Given the description of an element on the screen output the (x, y) to click on. 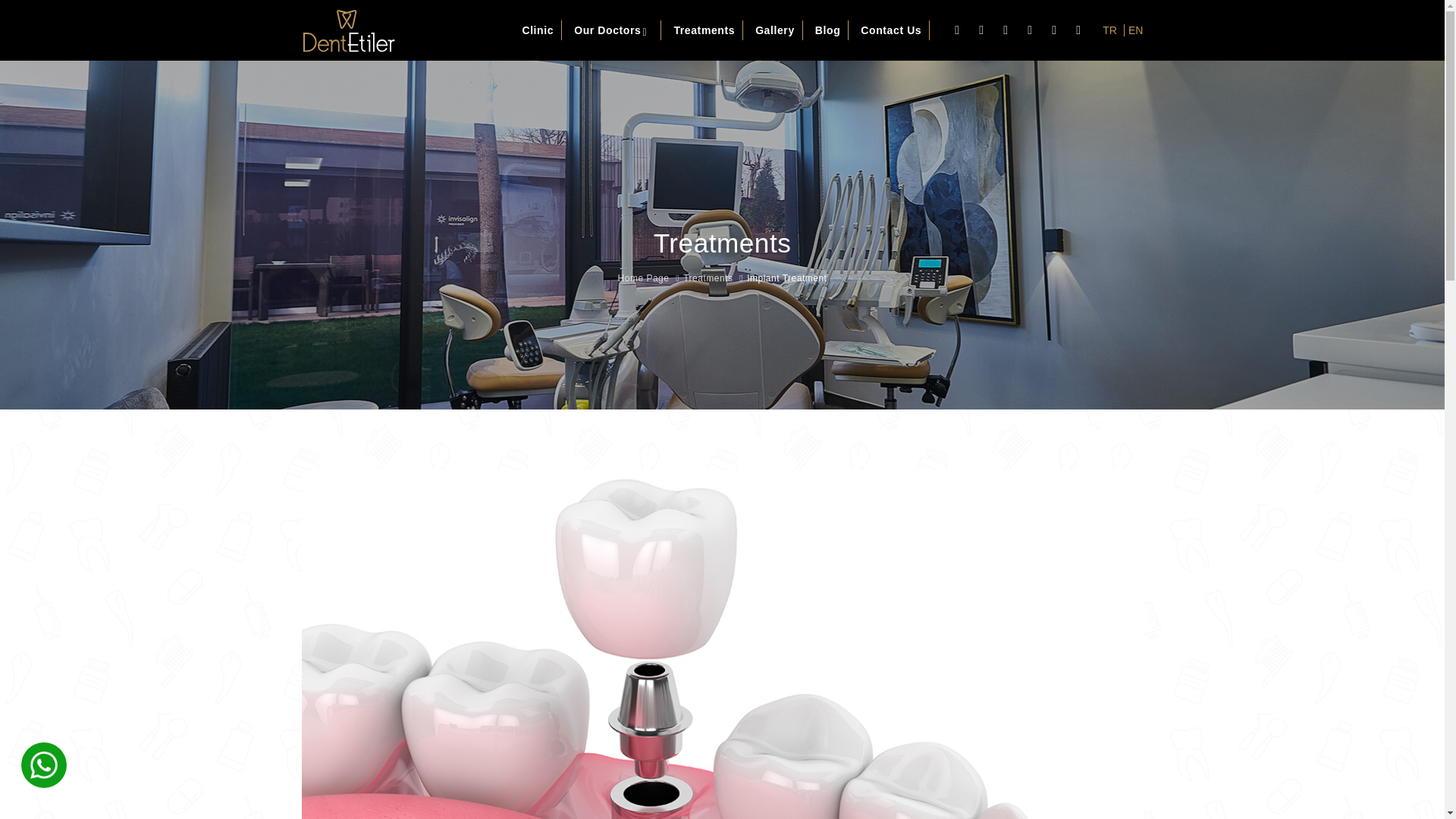
DentEtiler (348, 31)
Clinic (537, 30)
Our Doctors (613, 30)
Treatments (707, 277)
TR (1106, 30)
Contact Us (891, 30)
Treatments (703, 30)
Blog (828, 30)
Home Page (643, 277)
EN (1133, 30)
Gallery (775, 30)
